Given the description of an element on the screen output the (x, y) to click on. 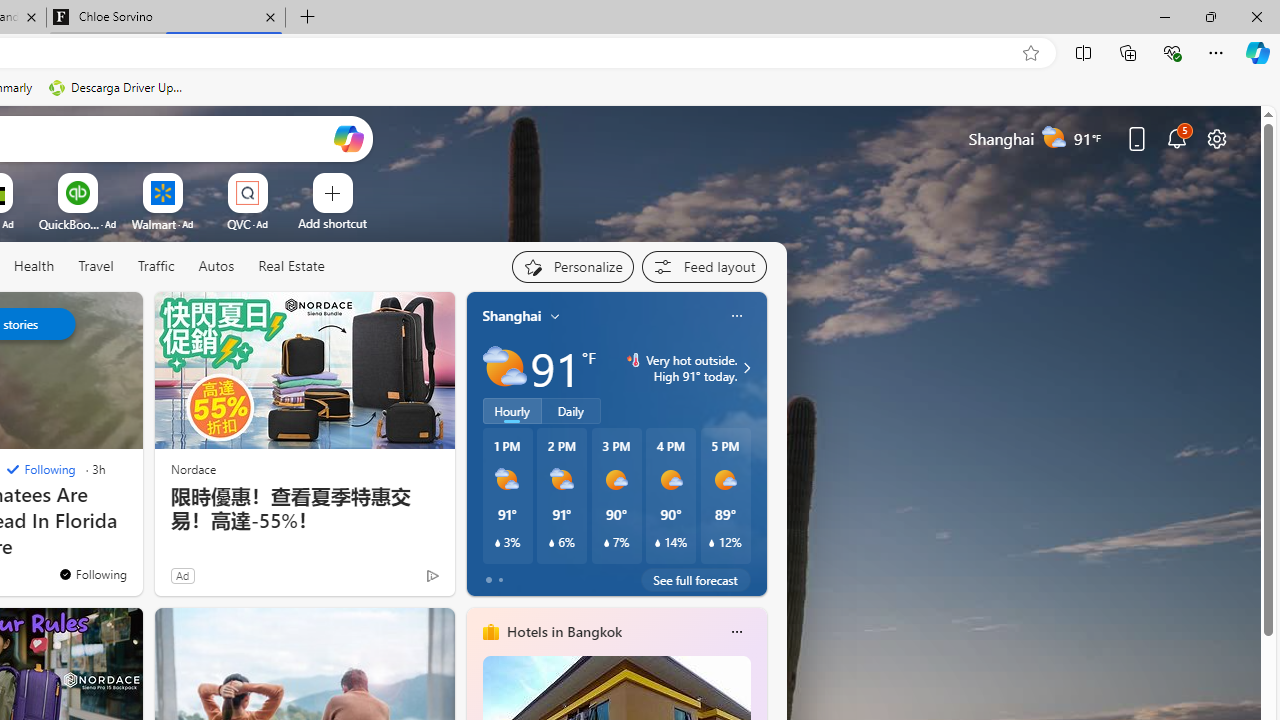
My location (555, 315)
Class: weather-current-precipitation-glyph (712, 543)
Class: weather-arrow-glyph (746, 367)
Autos (216, 267)
Traffic (155, 265)
